Given the description of an element on the screen output the (x, y) to click on. 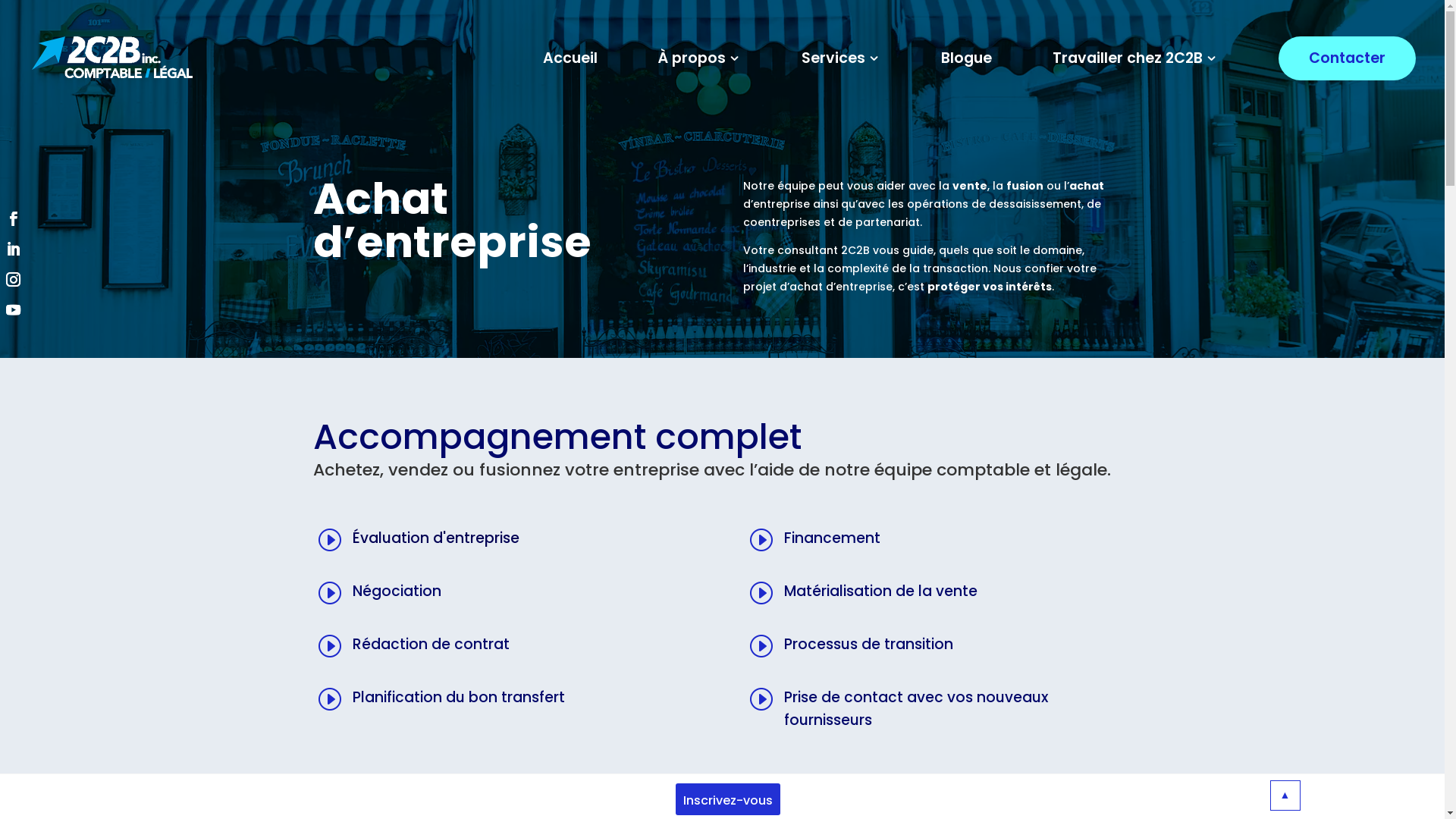
Accueil Element type: text (569, 58)
Travailler chez 2C2B Element type: text (1134, 58)
Suivez sur Youtube Element type: hover (12, 307)
Blogue Element type: text (966, 58)
Contacter Element type: text (1346, 58)
Suivez sur LinkedIn Element type: hover (12, 247)
Services Element type: text (840, 58)
Inscrivez-vous Element type: text (727, 799)
Suivez sur Facebook Element type: hover (12, 216)
Suivez sur Instagram Element type: hover (12, 277)
